Given the description of an element on the screen output the (x, y) to click on. 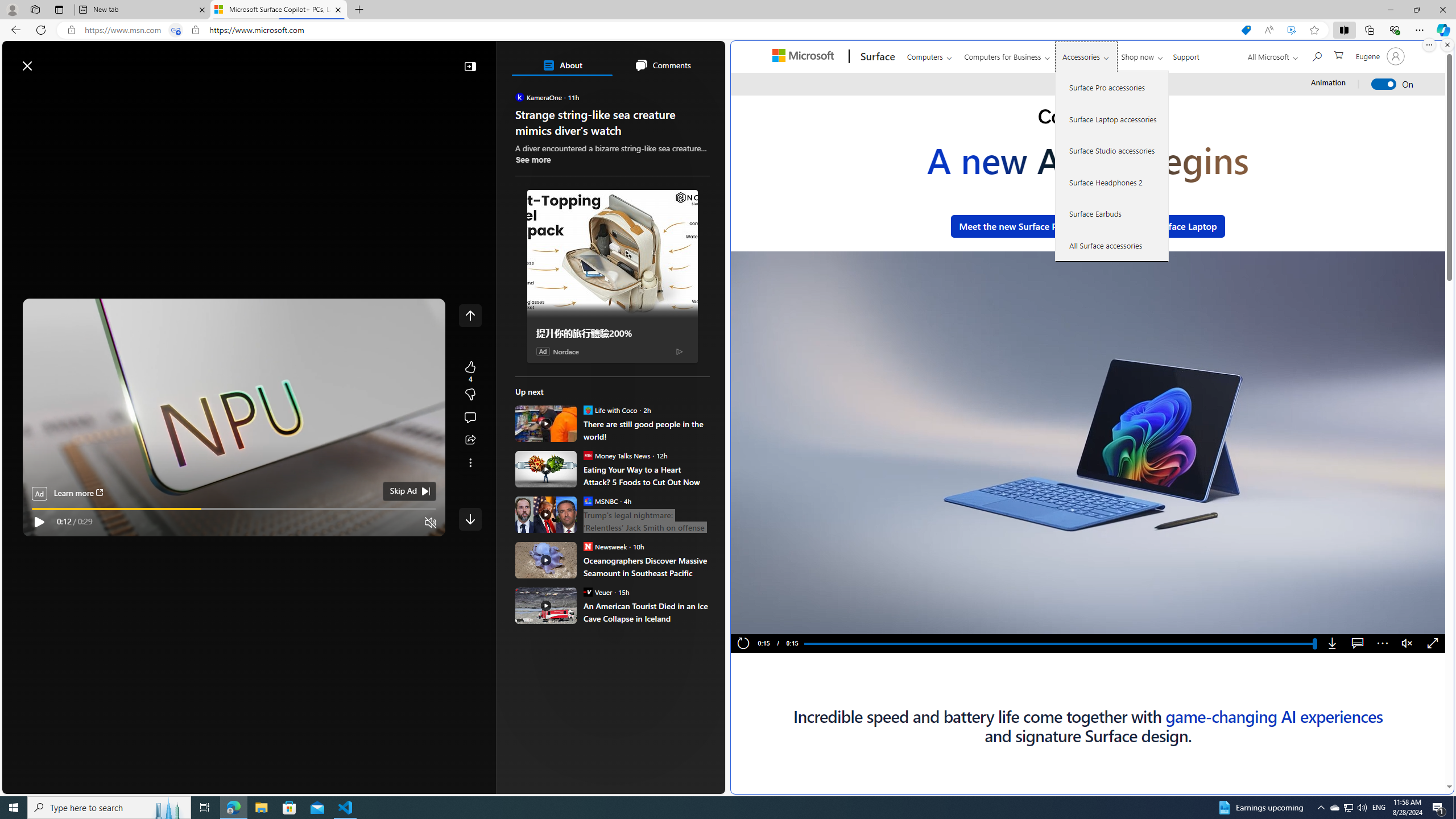
Meet the new Surface Pro (1012, 225)
AutomationID: pause-svg (762, 621)
Surface Headphones 2 (1112, 182)
Microsoft (804, 56)
Surface Studio accessories (1112, 150)
There are still good people in the world! (545, 423)
Replay (742, 643)
MSNBC (587, 500)
